Given the description of an element on the screen output the (x, y) to click on. 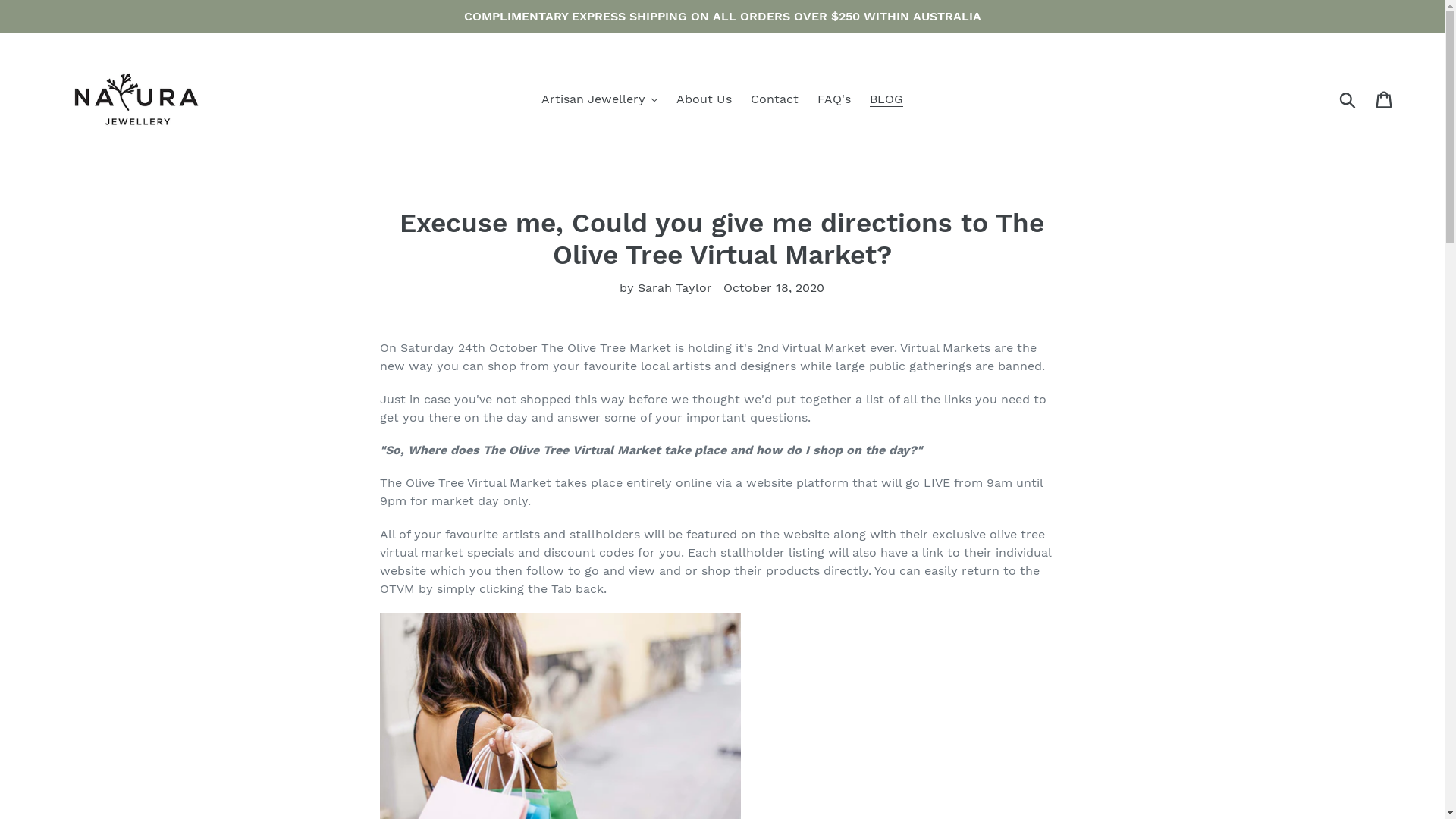
BLOG Element type: text (886, 98)
FAQ's Element type: text (833, 98)
Cart Element type: text (1384, 98)
About Us Element type: text (703, 98)
Contact Element type: text (774, 98)
Submit Element type: text (1348, 99)
